Given the description of an element on the screen output the (x, y) to click on. 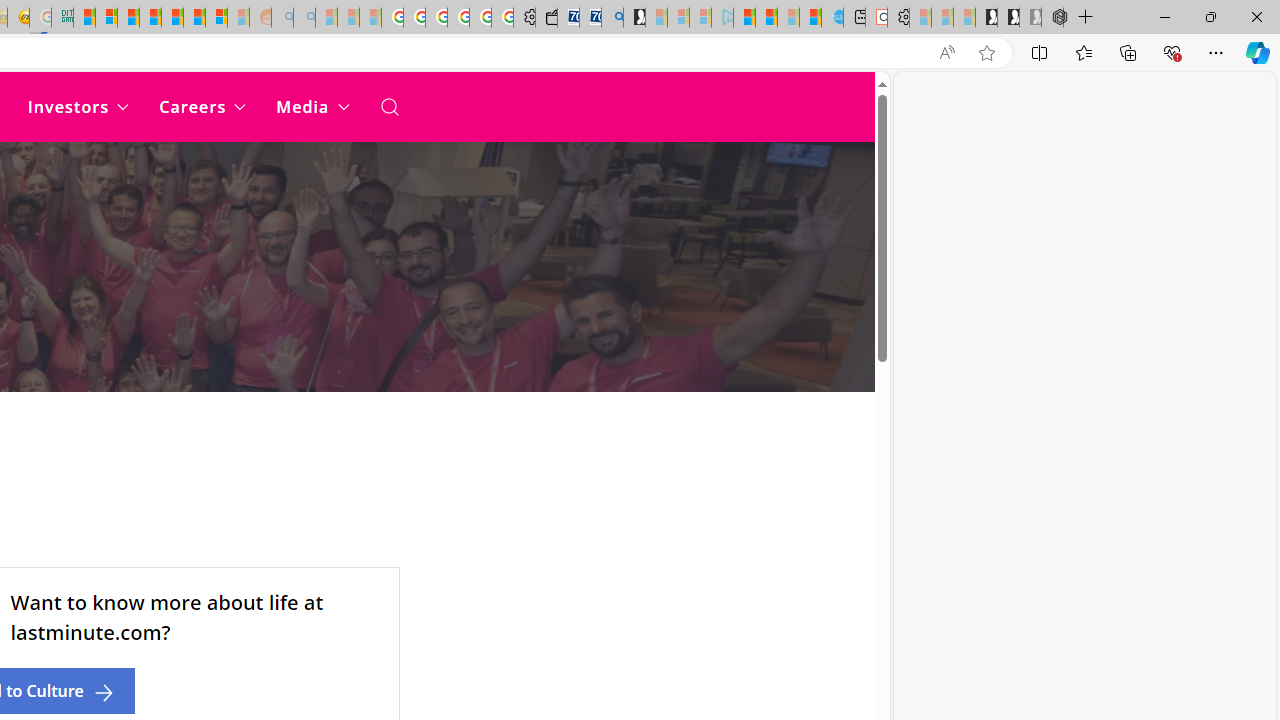
Play Free Online Games | Games from Microsoft Start (986, 17)
Media (312, 106)
Minimize (1164, 16)
Microsoft account | Privacy - Sleeping (699, 17)
Kinda Frugal - MSN (194, 17)
Microsoft Start - Sleeping (788, 17)
Careers (202, 106)
Wallet (546, 17)
Add this page to favorites (Ctrl+D) (986, 53)
